Given the description of an element on the screen output the (x, y) to click on. 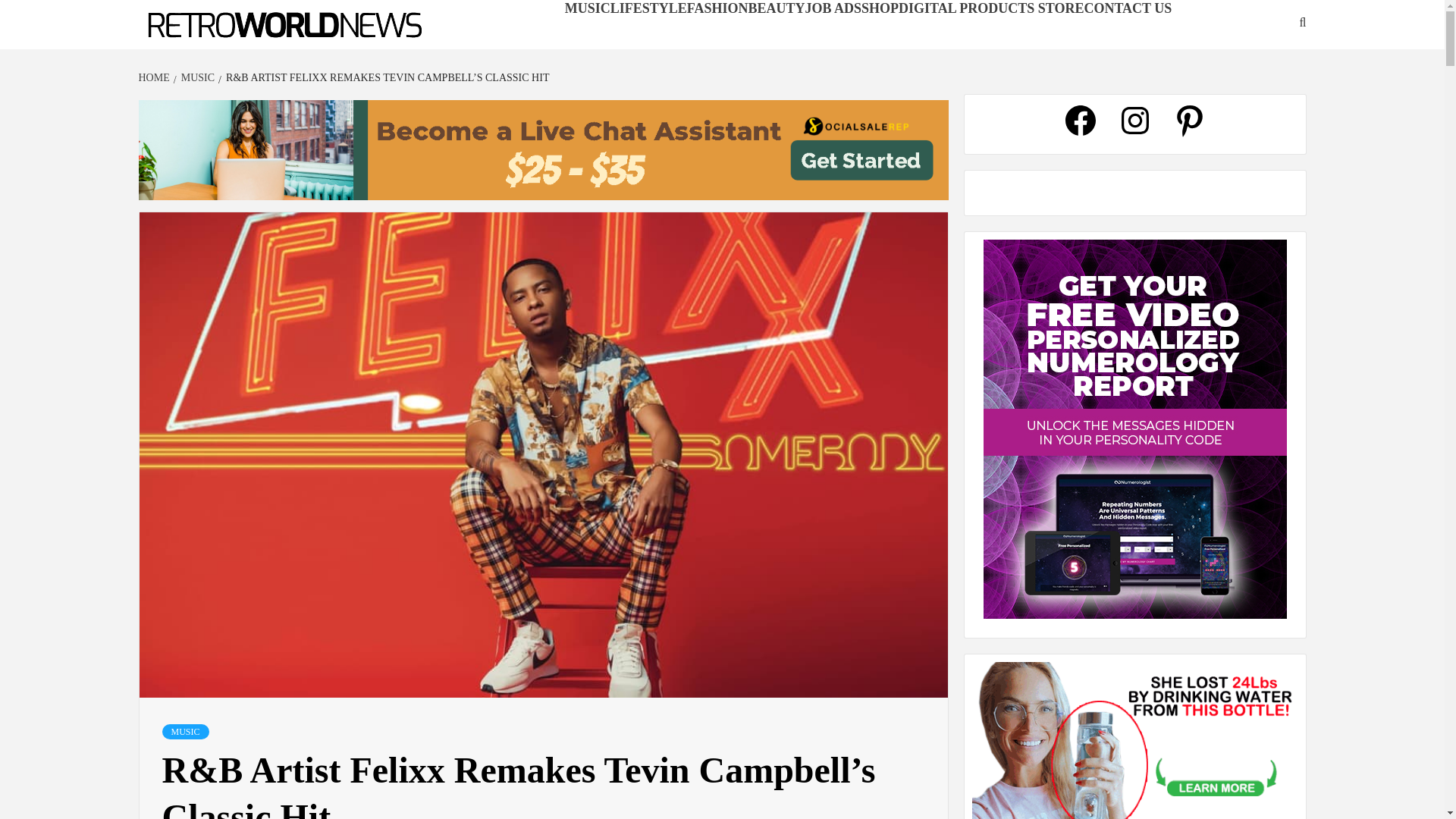
MUSIC (185, 731)
BEAUTY (776, 7)
MUSIC (587, 7)
CONTACT US (1127, 7)
SHOP (879, 7)
MUSIC (195, 77)
DIGITAL PRODUCTS STORE (990, 7)
JOB ADS (833, 7)
FASHION (717, 7)
HOME (155, 77)
